Given the description of an element on the screen output the (x, y) to click on. 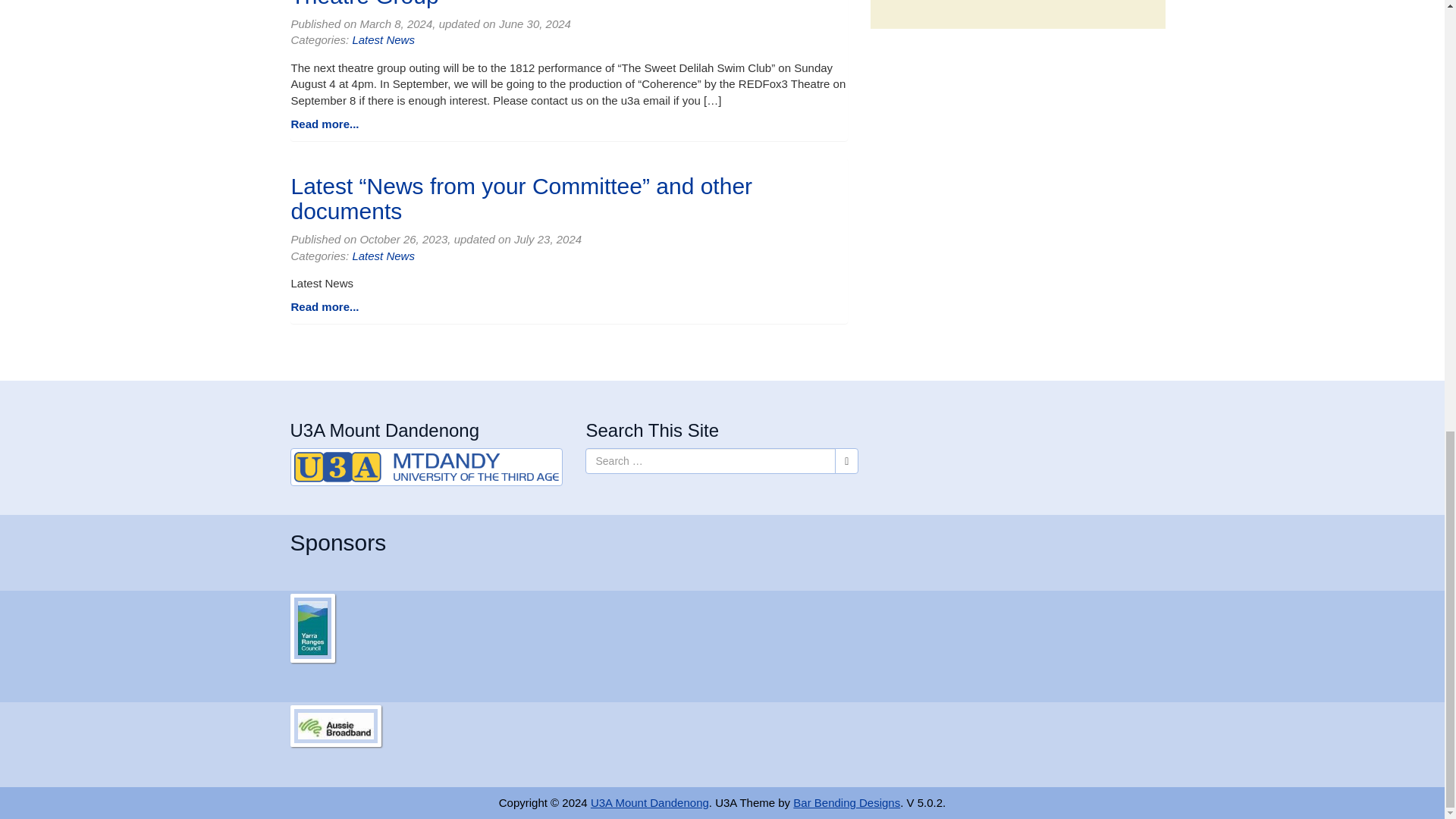
U3A Mount Dandenong (425, 466)
Bar Bending Designs (846, 802)
Search for: (710, 460)
